Given the description of an element on the screen output the (x, y) to click on. 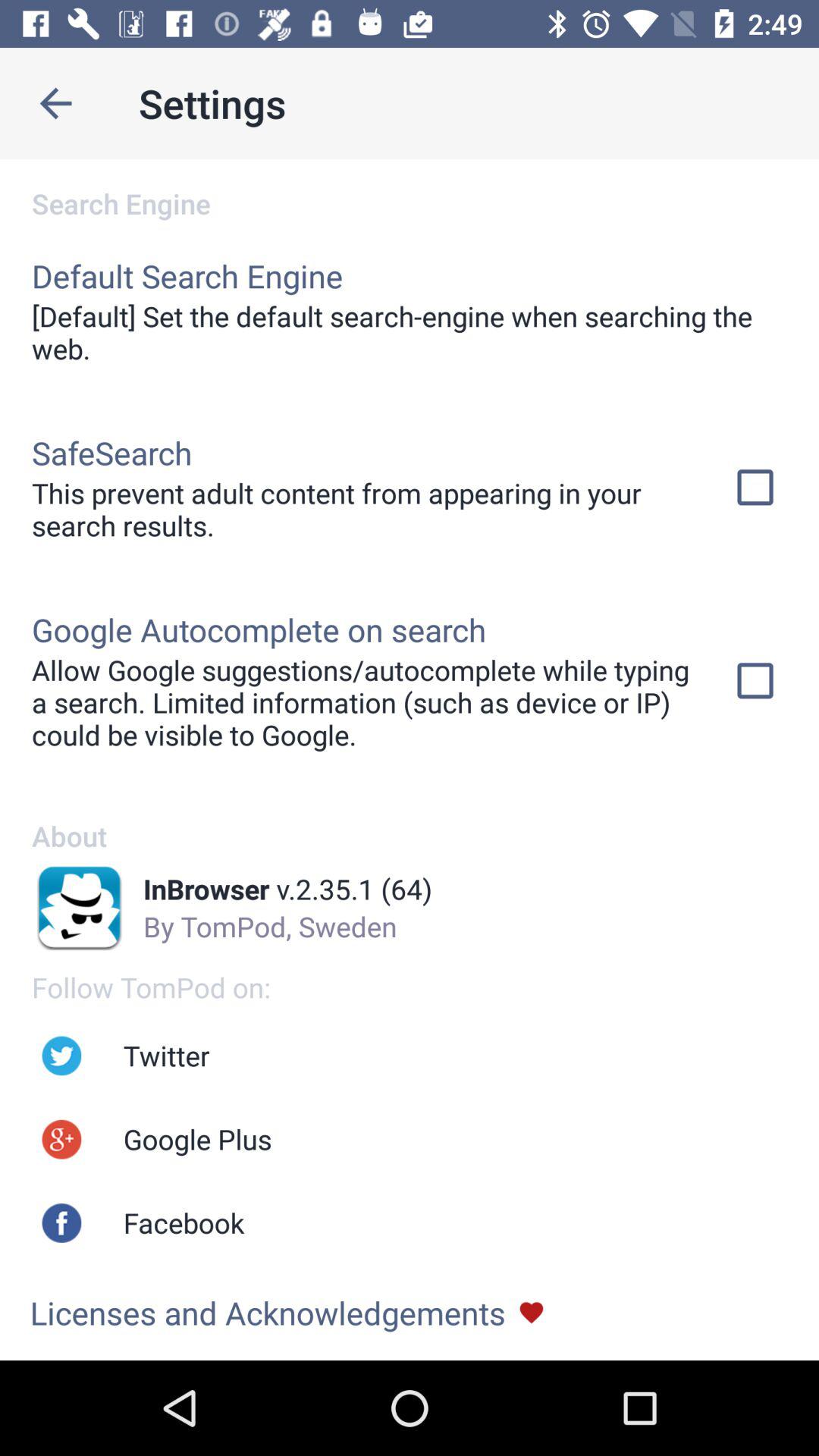
choose icon above the facebook app (197, 1139)
